Given the description of an element on the screen output the (x, y) to click on. 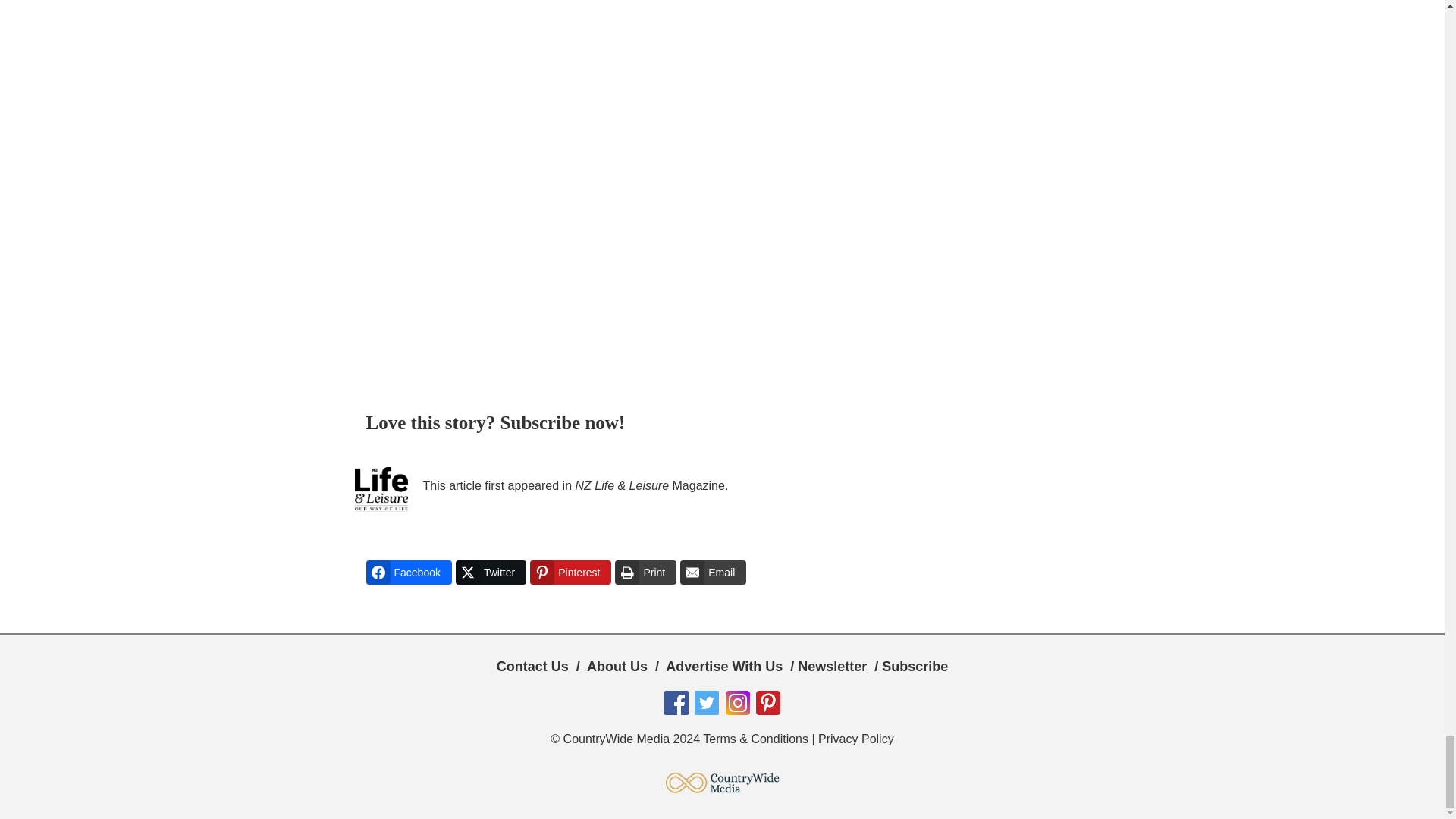
Share on Email (712, 572)
Email (712, 572)
Share on Print (645, 572)
Pinterest (570, 572)
Twitter (490, 572)
Print (645, 572)
Facebook (408, 572)
Share on Pinterest (570, 572)
Subscribe now! (563, 422)
Share on Facebook (408, 572)
